Given the description of an element on the screen output the (x, y) to click on. 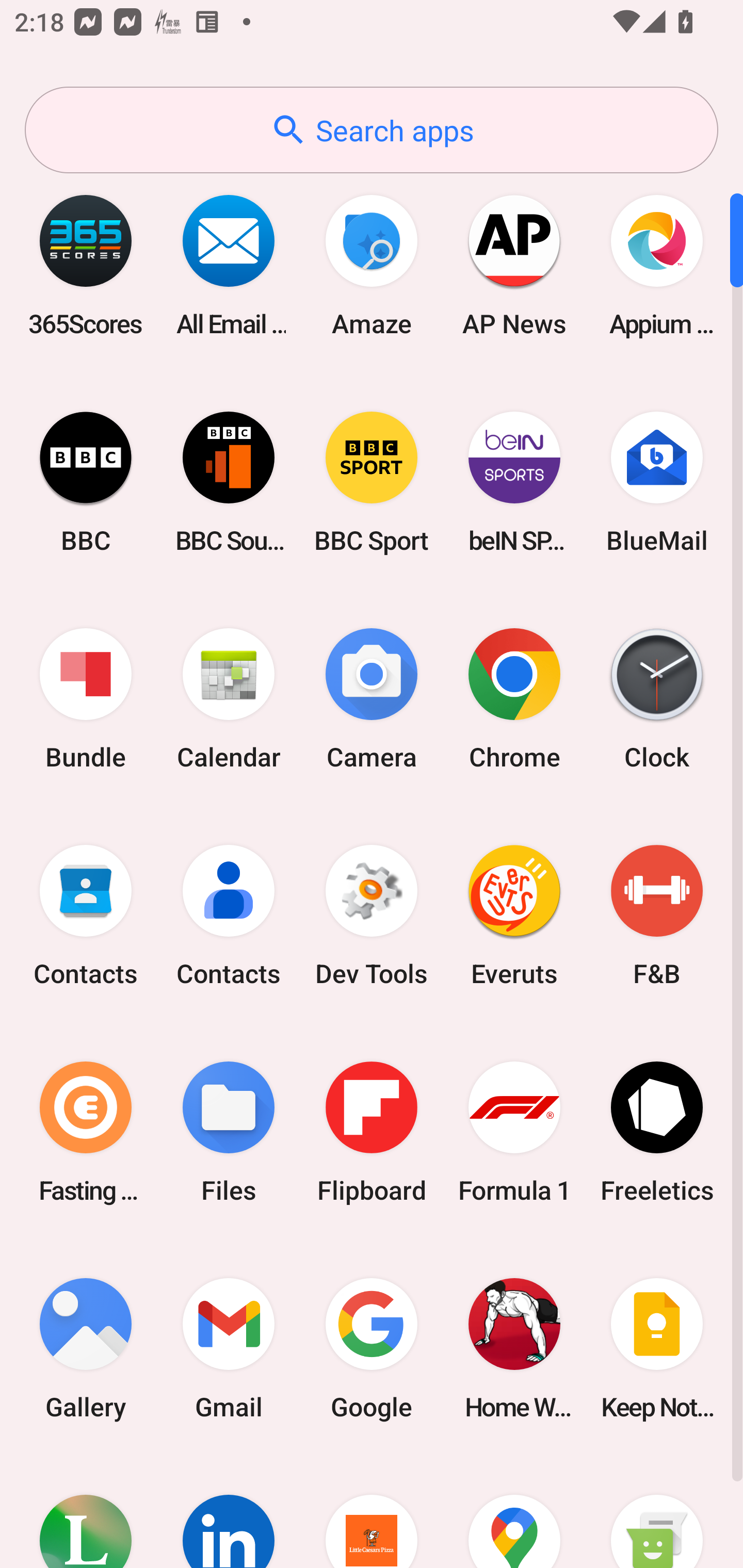
  Search apps (371, 130)
365Scores (85, 264)
All Email Connect (228, 264)
Amaze (371, 264)
AP News (514, 264)
Appium Settings (656, 264)
BBC (85, 482)
BBC Sounds (228, 482)
BBC Sport (371, 482)
beIN SPORTS (514, 482)
BlueMail (656, 482)
Bundle (85, 699)
Calendar (228, 699)
Camera (371, 699)
Chrome (514, 699)
Clock (656, 699)
Contacts (85, 915)
Contacts (228, 915)
Dev Tools (371, 915)
Everuts (514, 915)
F&B (656, 915)
Fasting Coach (85, 1131)
Files (228, 1131)
Flipboard (371, 1131)
Formula 1 (514, 1131)
Freeletics (656, 1131)
Gallery (85, 1348)
Gmail (228, 1348)
Google (371, 1348)
Home Workout (514, 1348)
Keep Notes (656, 1348)
Lifesum (85, 1512)
LinkedIn (228, 1512)
Little Caesars Pizza (371, 1512)
Maps (514, 1512)
Messaging (656, 1512)
